Given the description of an element on the screen output the (x, y) to click on. 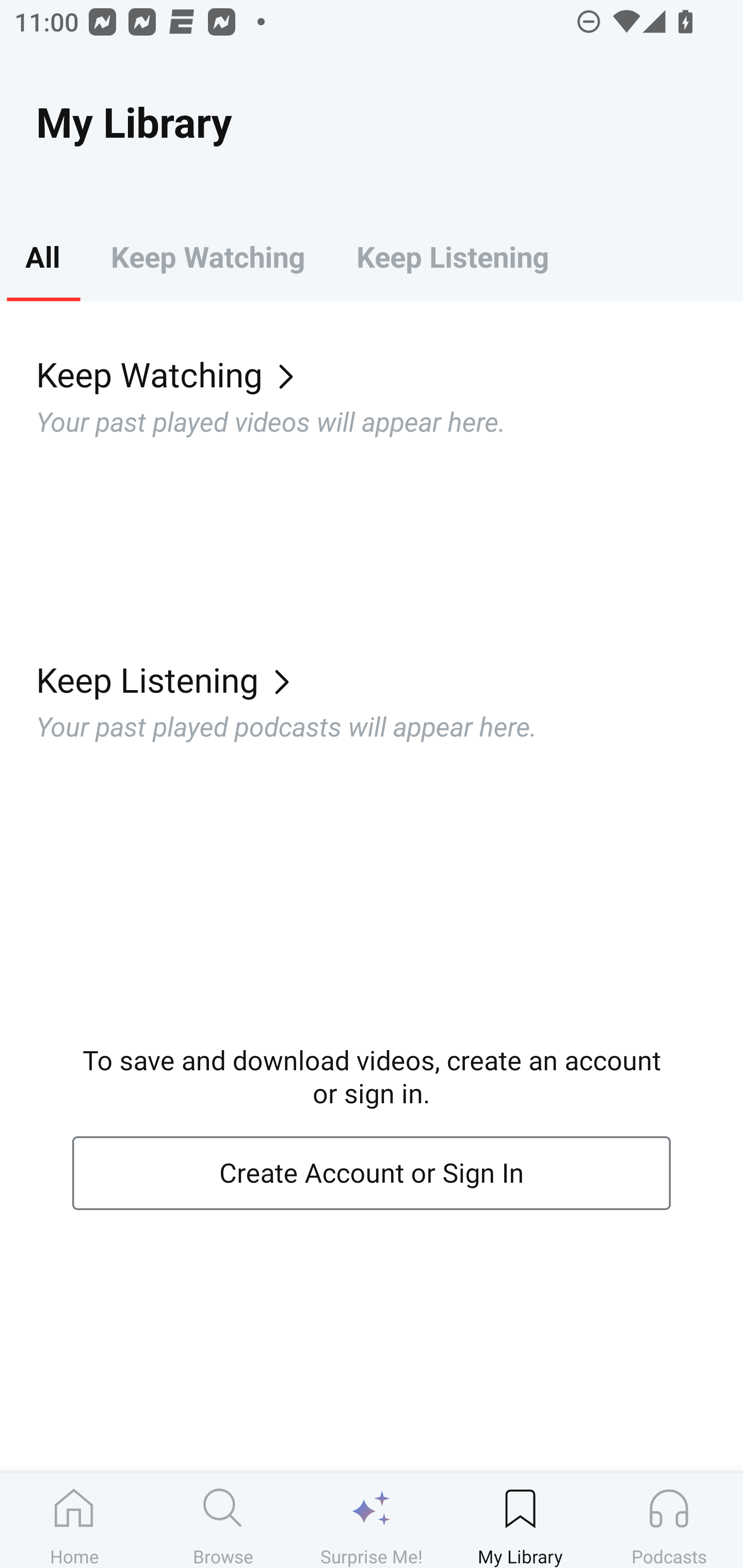
All (42, 256)
Keep Watching (207, 256)
Keep Listening (452, 256)
Keep Watching (389, 373)
Keep Listening (389, 679)
Create Account or Sign In (371, 1173)
Home (74, 1520)
Browse (222, 1520)
Surprise Me! (371, 1520)
My Library (519, 1520)
Podcasts (668, 1520)
